Given the description of an element on the screen output the (x, y) to click on. 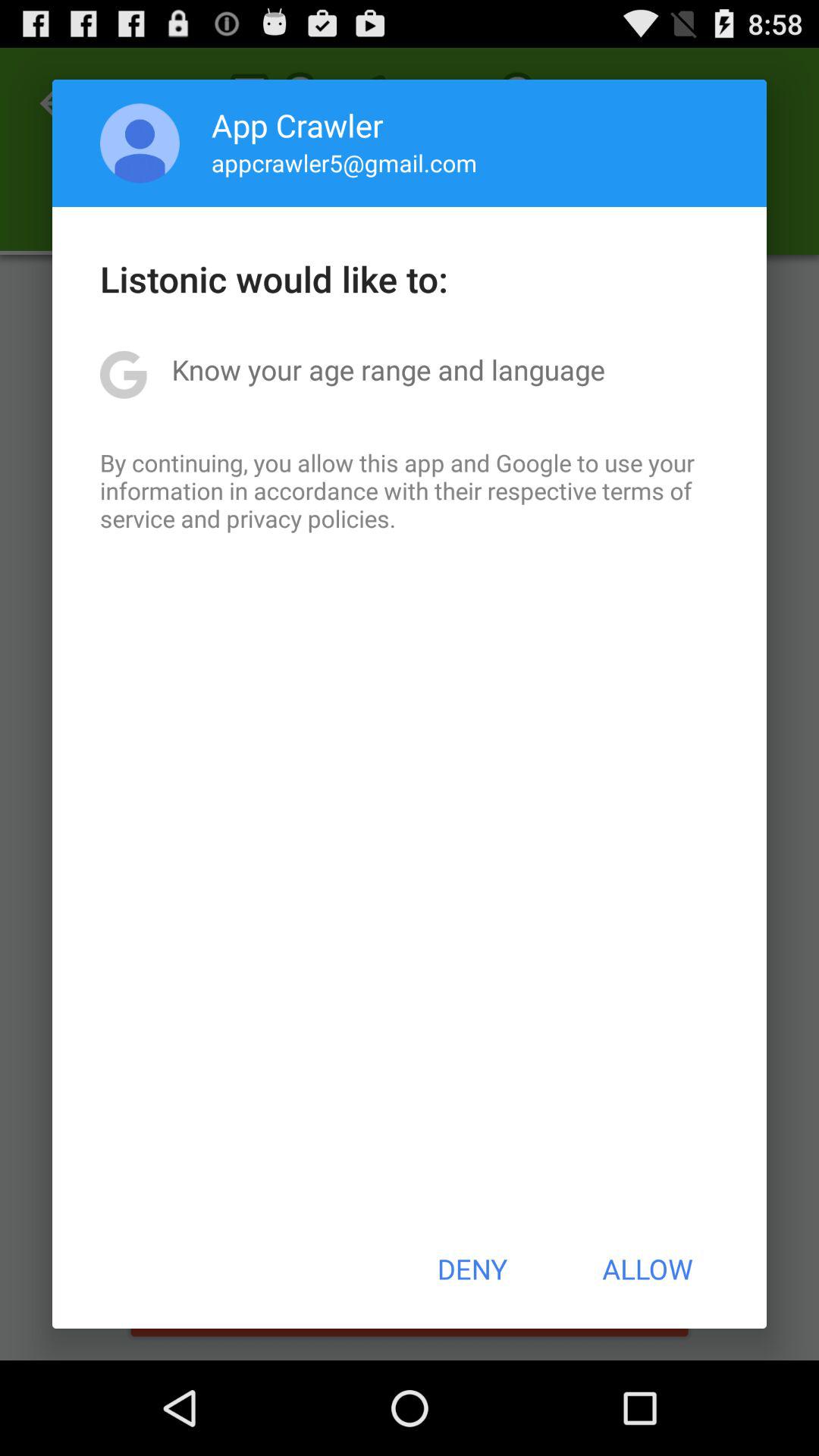
press the deny icon (471, 1268)
